Given the description of an element on the screen output the (x, y) to click on. 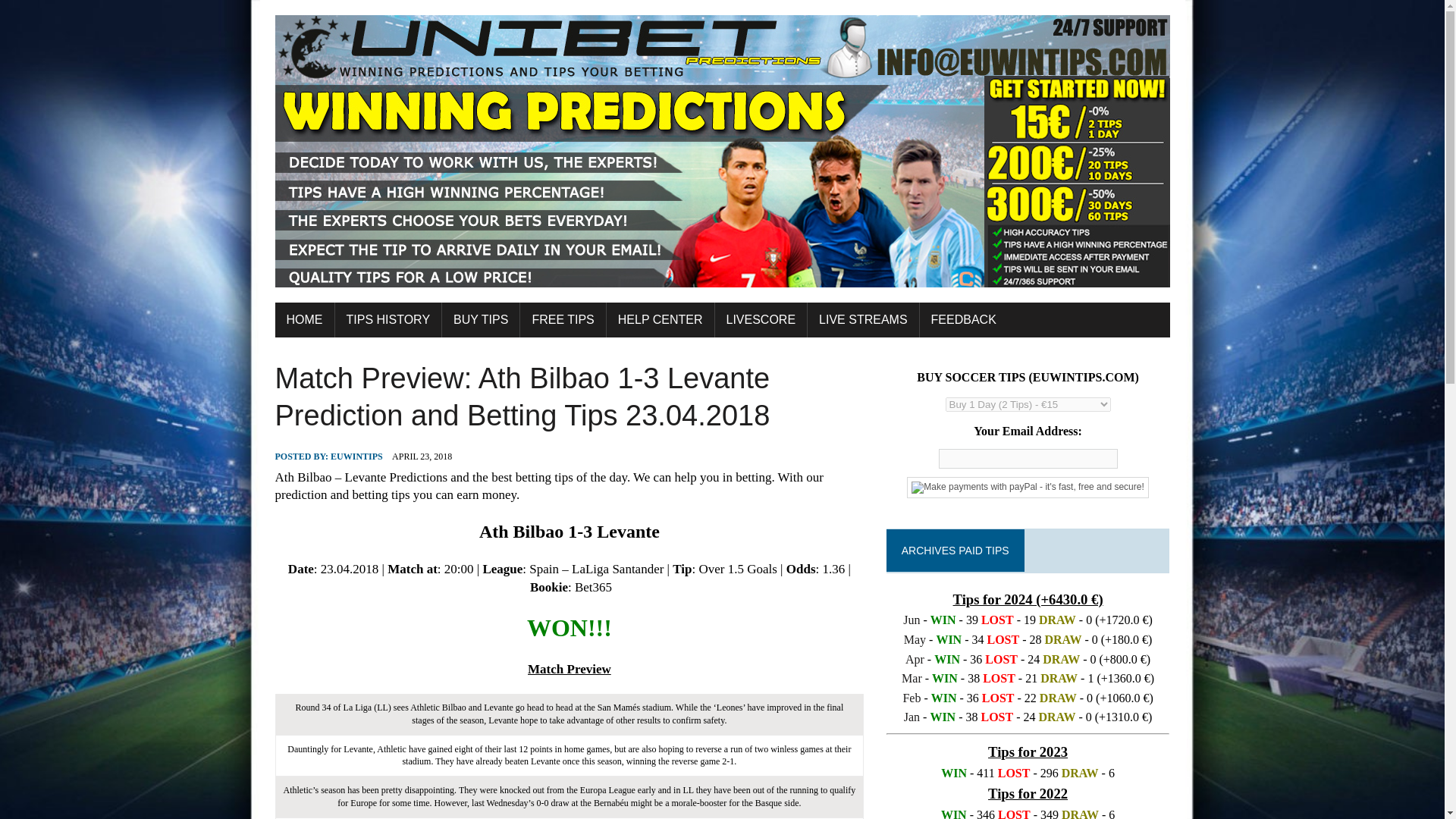
LIVESCORE (760, 319)
TIPS HISTORY (388, 319)
Apr (914, 658)
EUWINTIPS (356, 456)
FREE TIPS (562, 319)
FEEDBACK (963, 319)
BUY TIPS (480, 319)
HOME (304, 319)
LIVE STREAMS (863, 319)
Feb (911, 697)
Mar (911, 677)
Jun (911, 619)
Jan (912, 716)
HELP CENTER (660, 319)
